Given the description of an element on the screen output the (x, y) to click on. 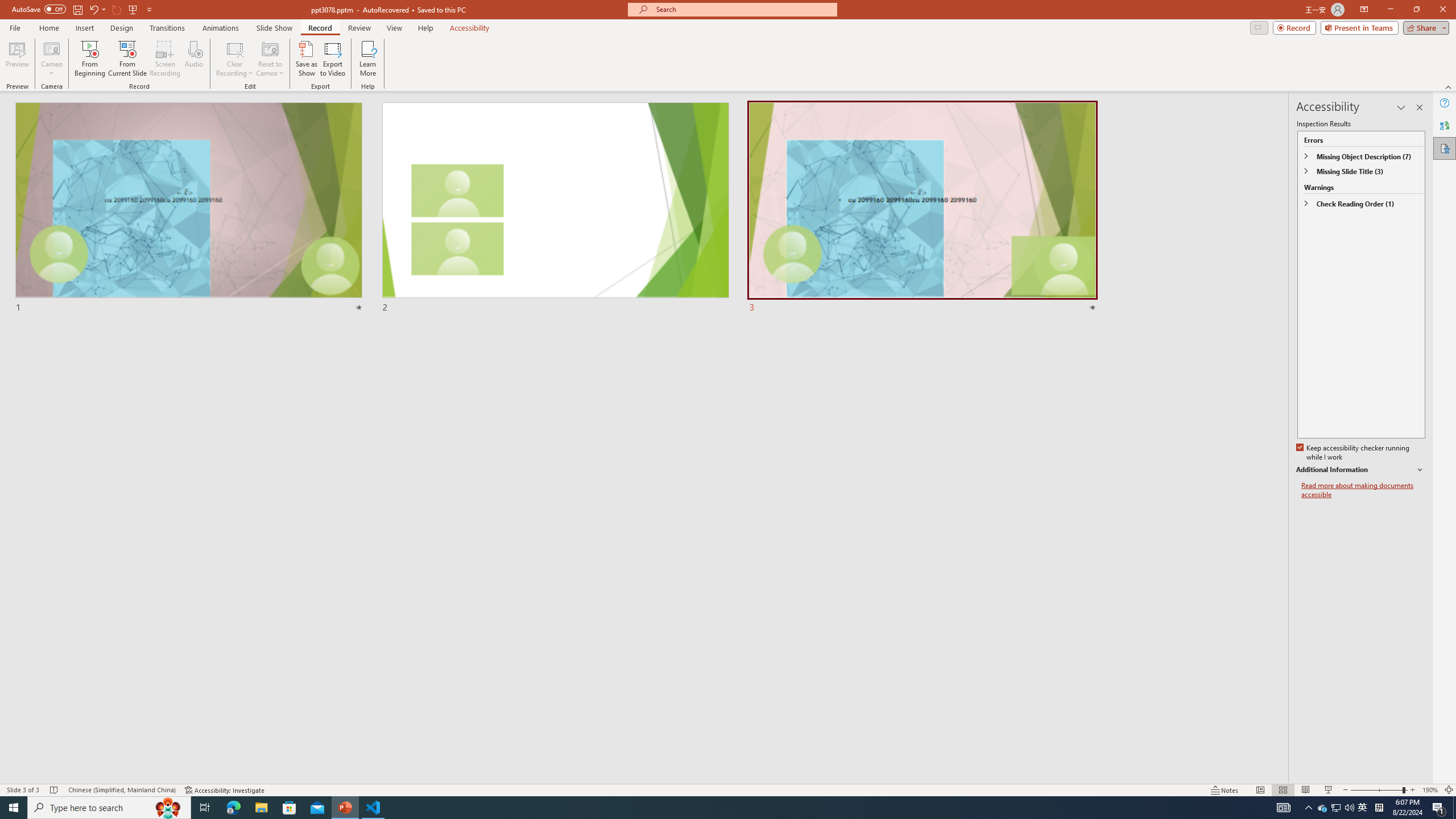
Zoom 190% (1430, 790)
Export to Video (332, 58)
